Given the description of an element on the screen output the (x, y) to click on. 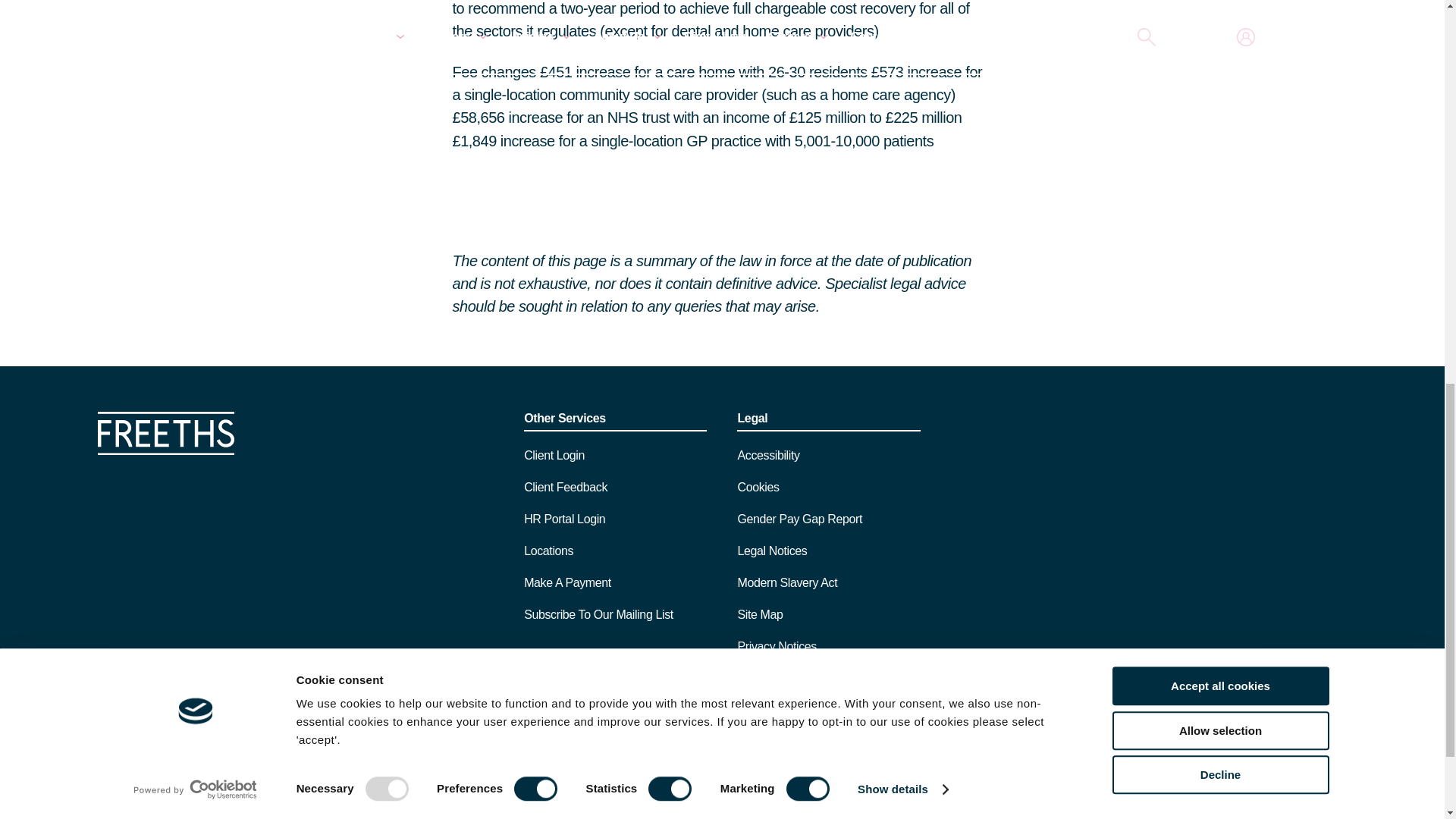
Legal Notices (777, 744)
Twitter (1277, 746)
Home (164, 450)
YouTube (1308, 746)
Privacy Notices (854, 744)
LinkedIn (1339, 746)
